Given the description of an element on the screen output the (x, y) to click on. 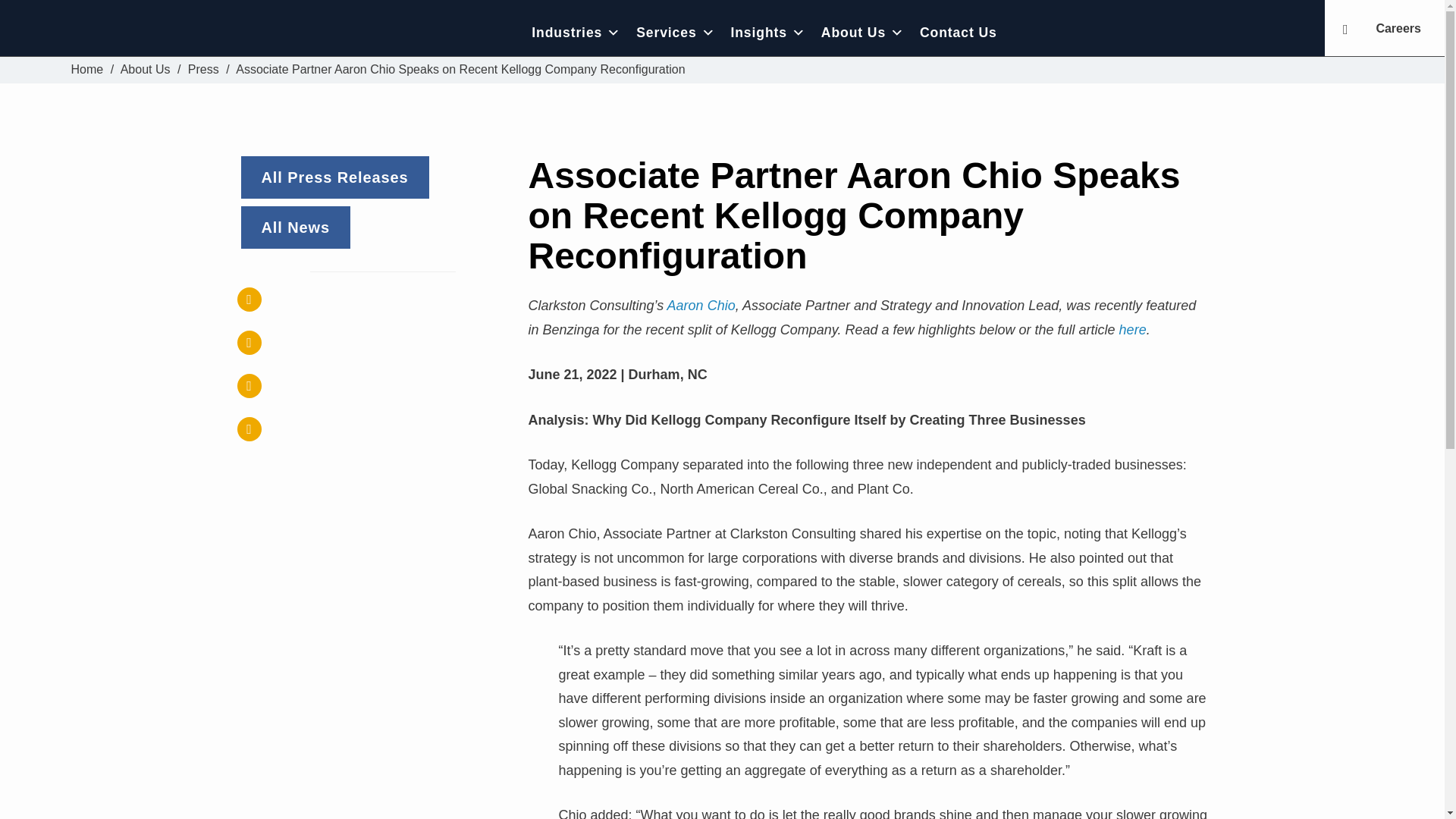
Press (203, 69)
Services (675, 32)
About Us (145, 69)
Clarkston Consulting (176, 31)
Industries (576, 32)
Clarkston Consulting (87, 69)
